Given the description of an element on the screen output the (x, y) to click on. 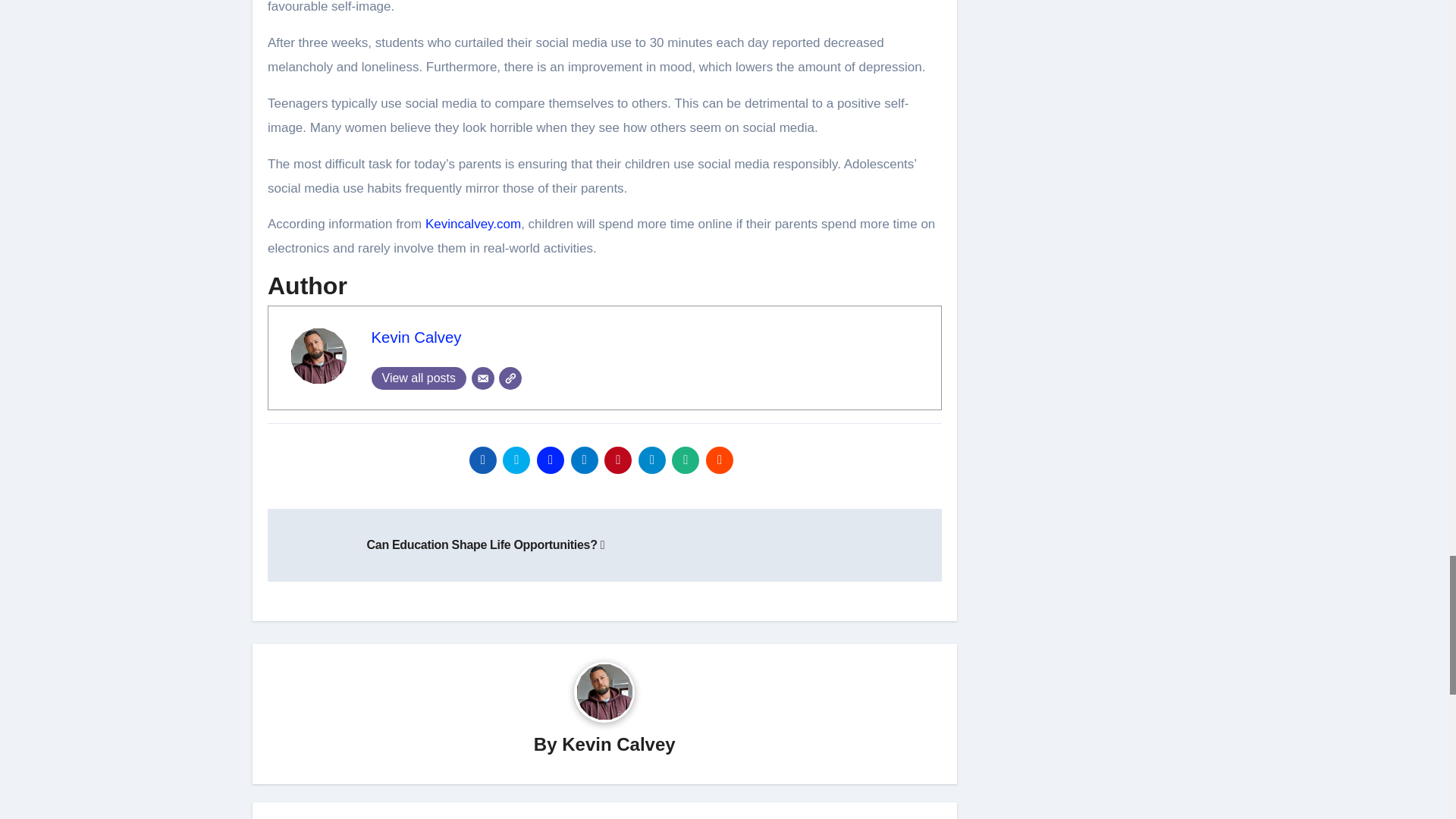
Kevin Calvey (416, 337)
View all posts (419, 377)
View all posts (419, 377)
Kevincalvey.com (473, 223)
Kevin Calvey (416, 337)
